Given the description of an element on the screen output the (x, y) to click on. 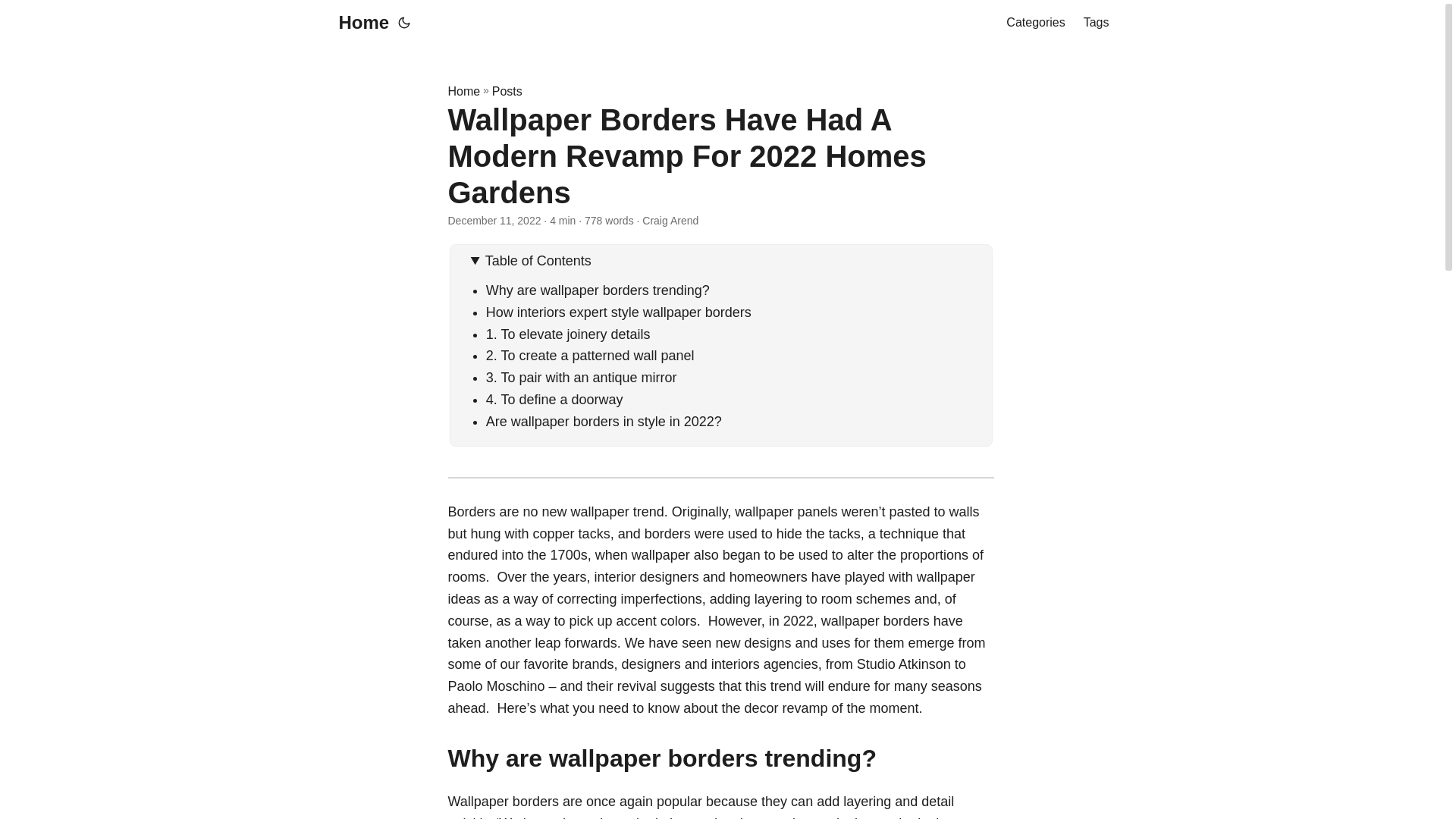
Categories (1035, 22)
1. To elevate joinery details (568, 334)
Why are wallpaper borders trending? (598, 290)
Are wallpaper borders in style in 2022? (604, 421)
Home (463, 91)
2. To create a patterned wall panel   (593, 355)
Categories (1035, 22)
How interiors expert style wallpaper borders (618, 312)
4. To define a doorway   (558, 399)
Home (359, 22)
